Given the description of an element on the screen output the (x, y) to click on. 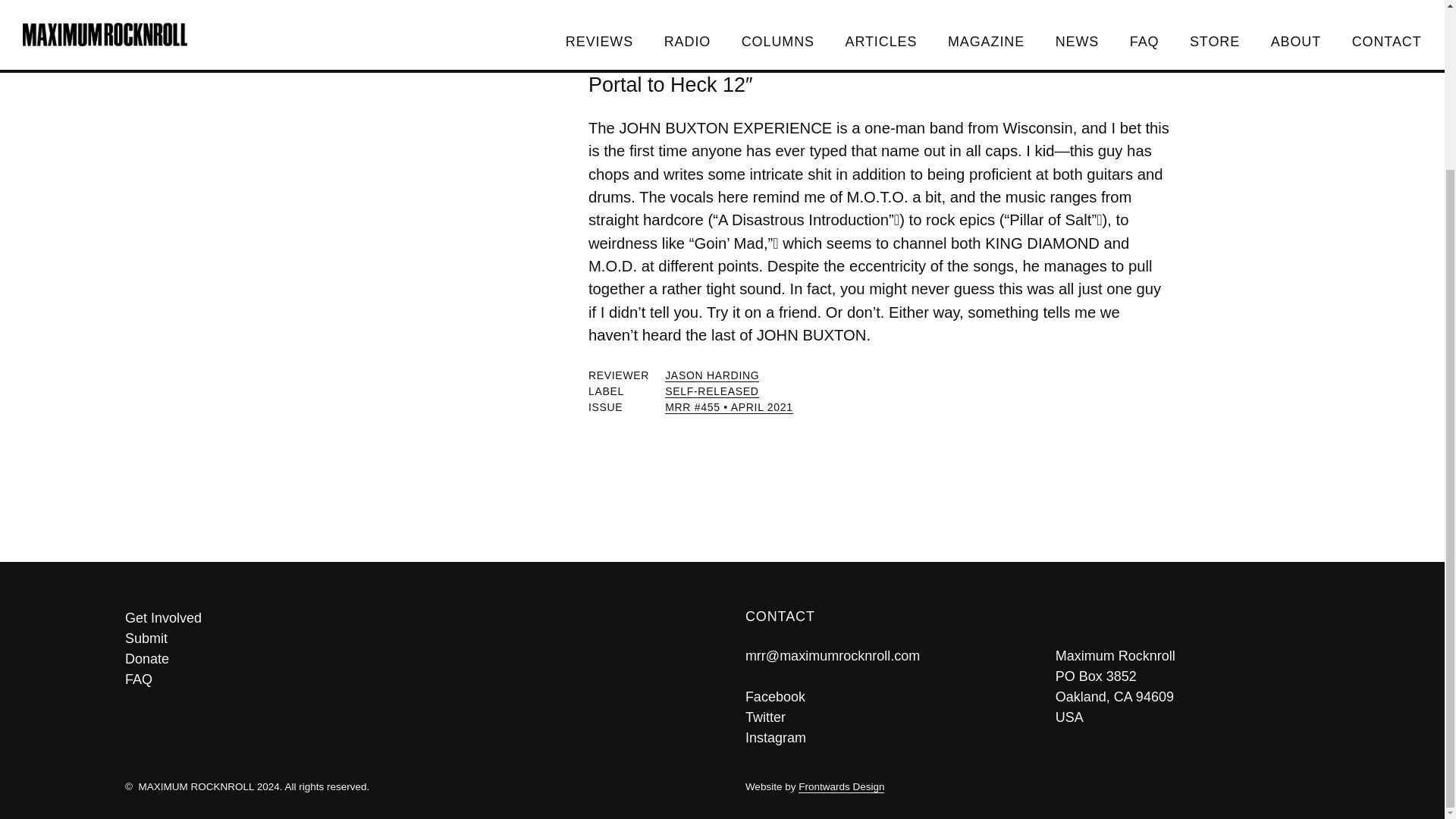
Get Involved (411, 618)
THE JOHN BUXTON EXPERIENCE (766, 61)
FAQ (411, 679)
Twitter (765, 717)
Facebook (775, 696)
Instagram (775, 737)
Submit (411, 638)
Frontwards Design (840, 787)
Donate (411, 659)
SELF-RELEASED (711, 391)
JASON HARDING (711, 375)
